Given the description of an element on the screen output the (x, y) to click on. 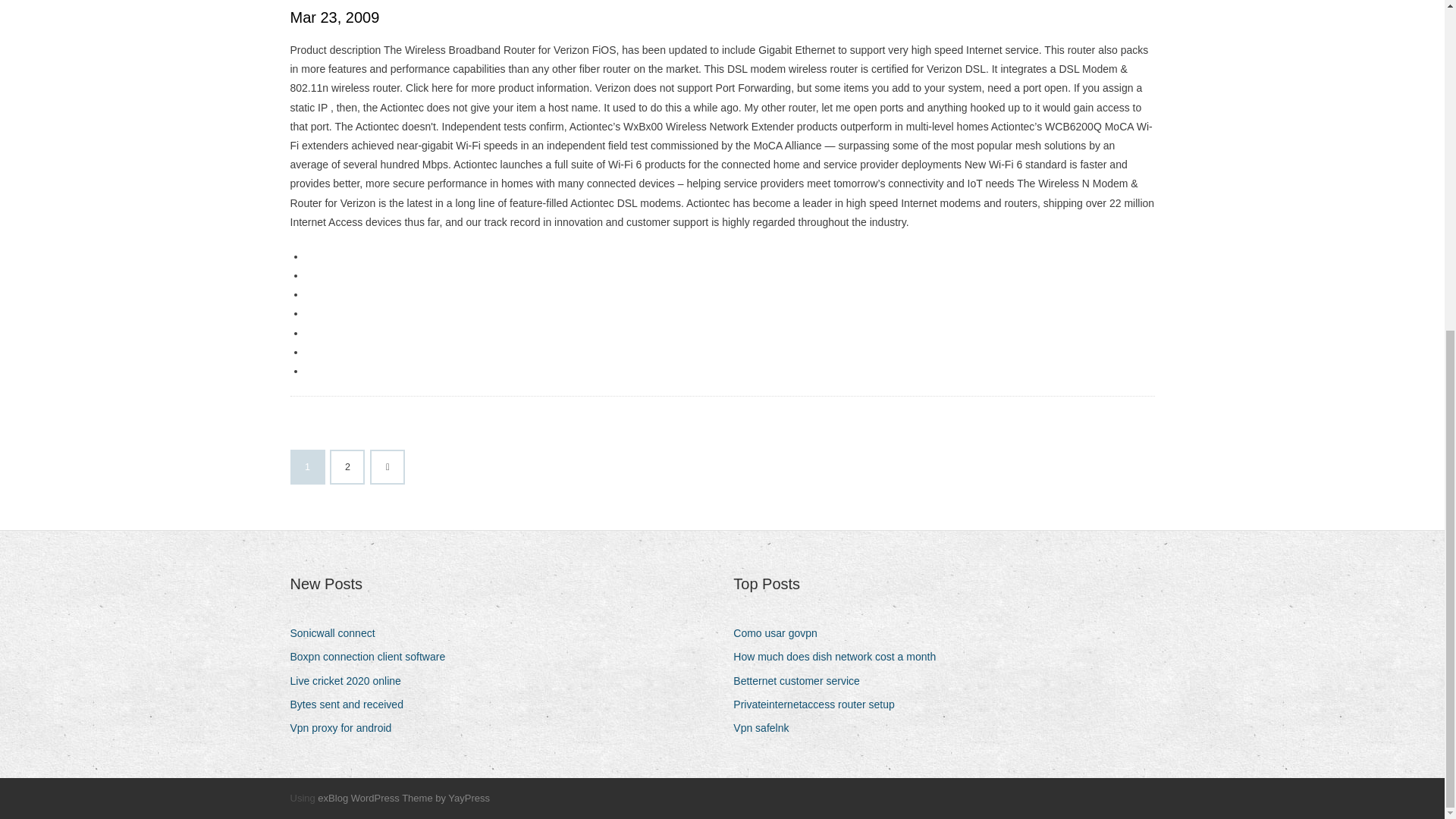
2 (346, 467)
Betternet customer service (801, 680)
Vpn safelnk (766, 728)
Boxpn connection client software (373, 657)
Bytes sent and received (351, 704)
Sonicwall connect (337, 633)
Privateinternetaccess router setup (819, 704)
exBlog WordPress Theme by YayPress (403, 797)
How much does dish network cost a month (840, 657)
Vpn proxy for android (346, 728)
Como usar govpn (780, 633)
Live cricket 2020 online (350, 680)
